Given the description of an element on the screen output the (x, y) to click on. 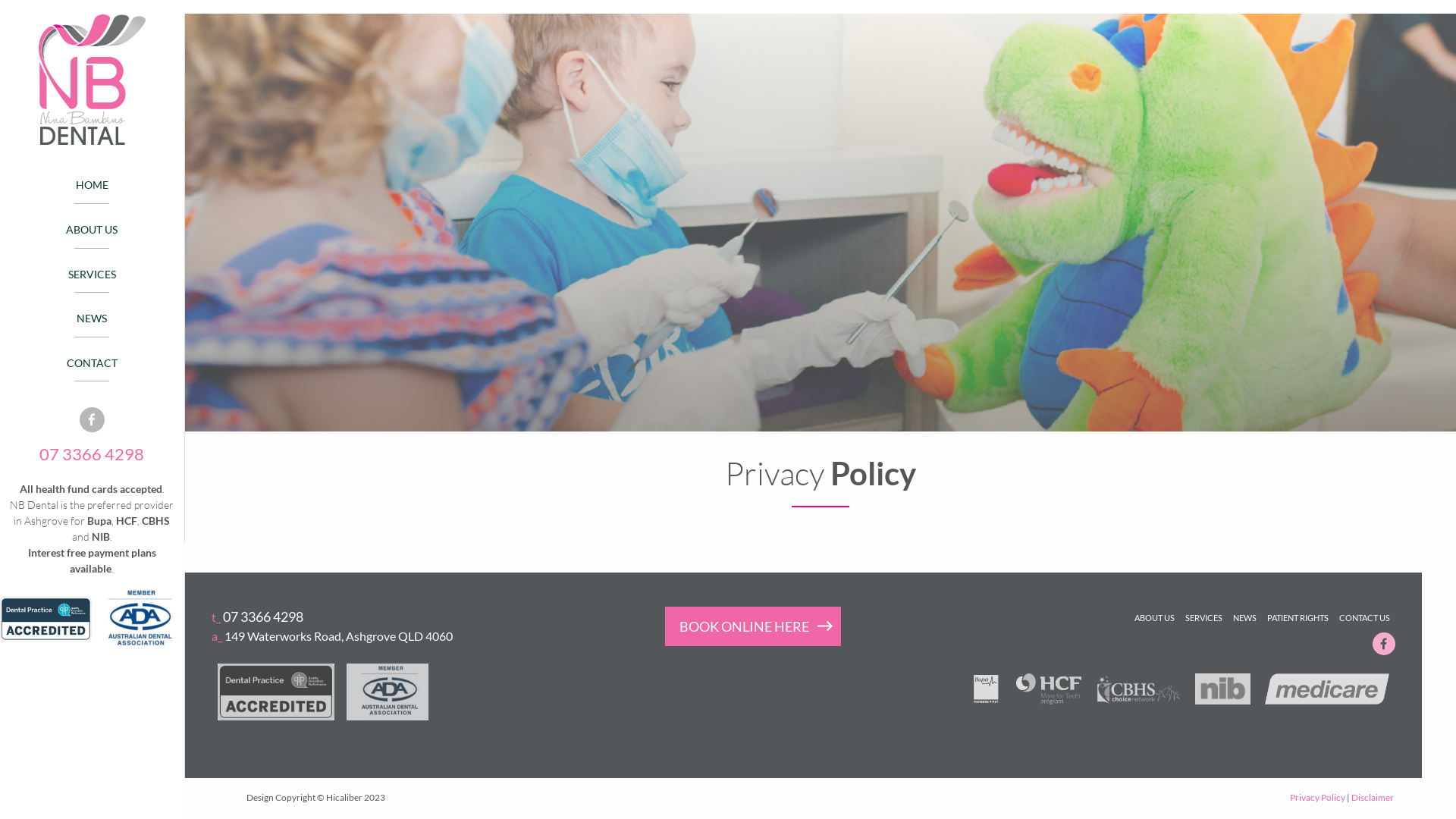
NEWS Element type: text (91, 318)
HOME Element type: text (91, 185)
Privacy Policy Element type: text (1317, 797)
PATIENT RIGHTS Element type: text (1297, 617)
07 3366 4298 Element type: text (91, 453)
Disclaimer Element type: text (1372, 797)
SERVICES Element type: text (91, 274)
a_ 149 Waterworks Road, Ashgrove QLD 4060 Element type: text (400, 636)
ABOUT US Element type: text (1154, 617)
SERVICES Element type: text (1203, 617)
t_ 07 3366 4298 Element type: text (257, 616)
ABOUT US Element type: text (91, 230)
CONTACT Element type: text (91, 362)
BOOK ONLINE HERE Element type: text (752, 626)
CONTACT US Element type: text (1364, 617)
NEWS Element type: text (1244, 617)
